Given the description of an element on the screen output the (x, y) to click on. 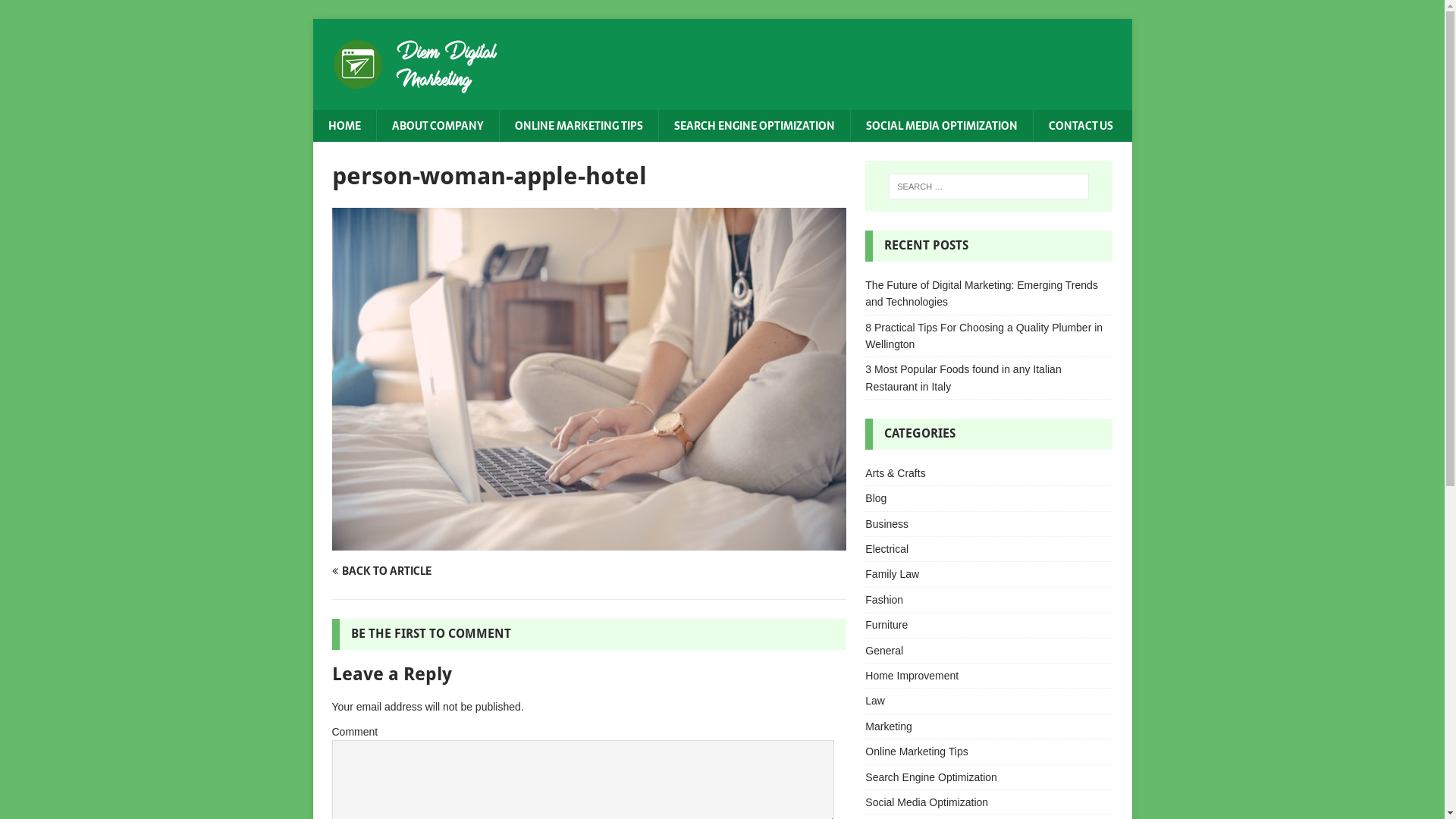
Blog Element type: text (988, 498)
Fashion Element type: text (988, 599)
Marketing Element type: text (988, 726)
Arts & Crafts Element type: text (988, 474)
Social Media Optimization Element type: text (988, 802)
Law Element type: text (988, 700)
Home Improvement Element type: text (988, 675)
General Element type: text (988, 650)
Search Element type: text (56, 11)
person-woman-apple-hotel Element type: hover (589, 542)
Search Engine Optimization Element type: text (988, 777)
HOME Element type: text (343, 125)
ONLINE MARKETING TIPS Element type: text (578, 125)
SOCIAL MEDIA OPTIMIZATION Element type: text (940, 125)
ABOUT COMPANY Element type: text (437, 125)
Electrical Element type: text (988, 548)
Furniture Element type: text (988, 624)
Family Law Element type: text (988, 573)
CONTACT US Element type: text (1080, 125)
BACK TO ARTICLE Element type: text (457, 570)
SEARCH ENGINE OPTIMIZATION Element type: text (754, 125)
Online Marketing Tips Element type: text (988, 751)
Business Element type: text (988, 523)
